Given the description of an element on the screen output the (x, y) to click on. 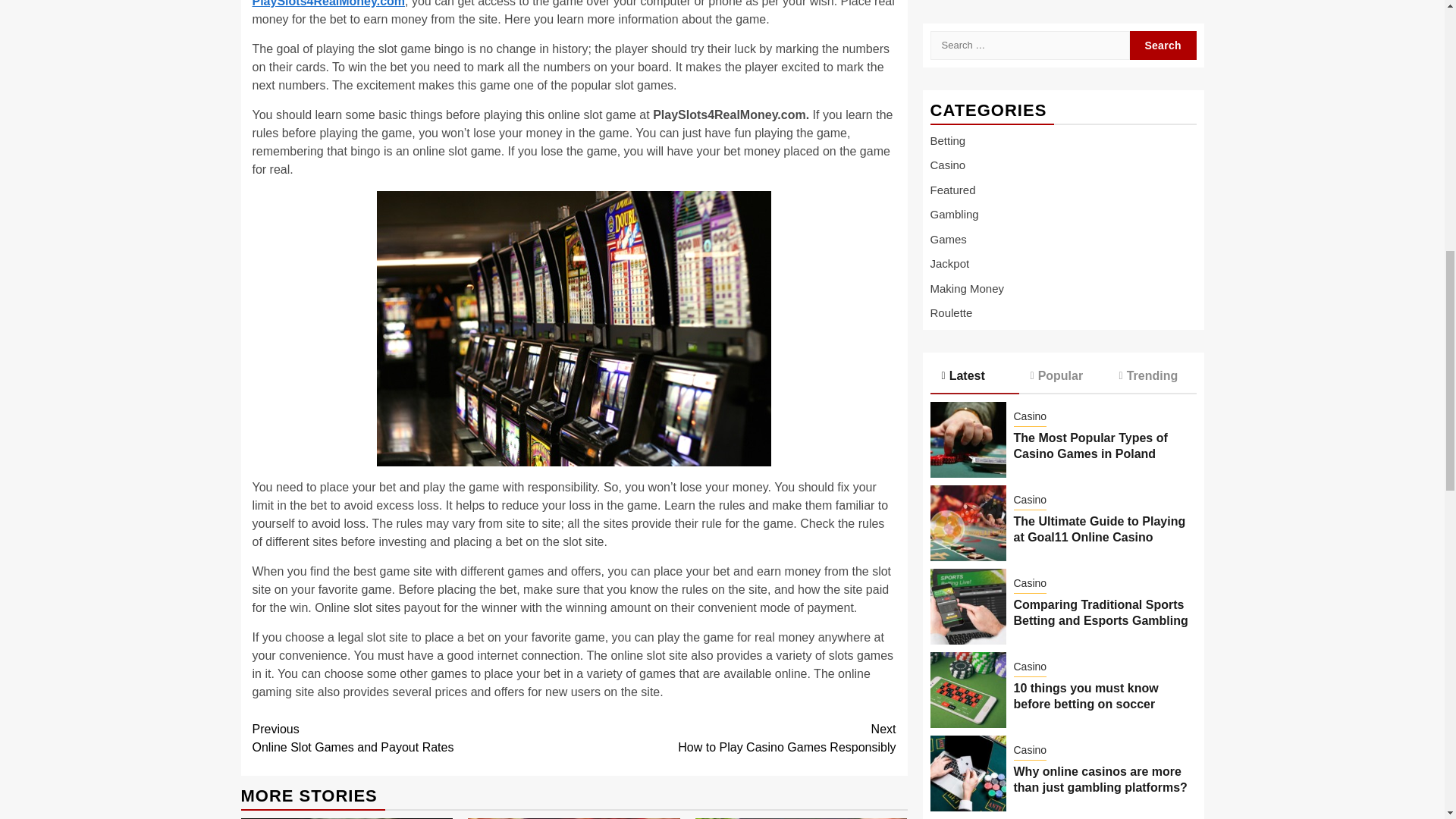
PlaySlots4RealMoney.com (327, 3)
